Given the description of an element on the screen output the (x, y) to click on. 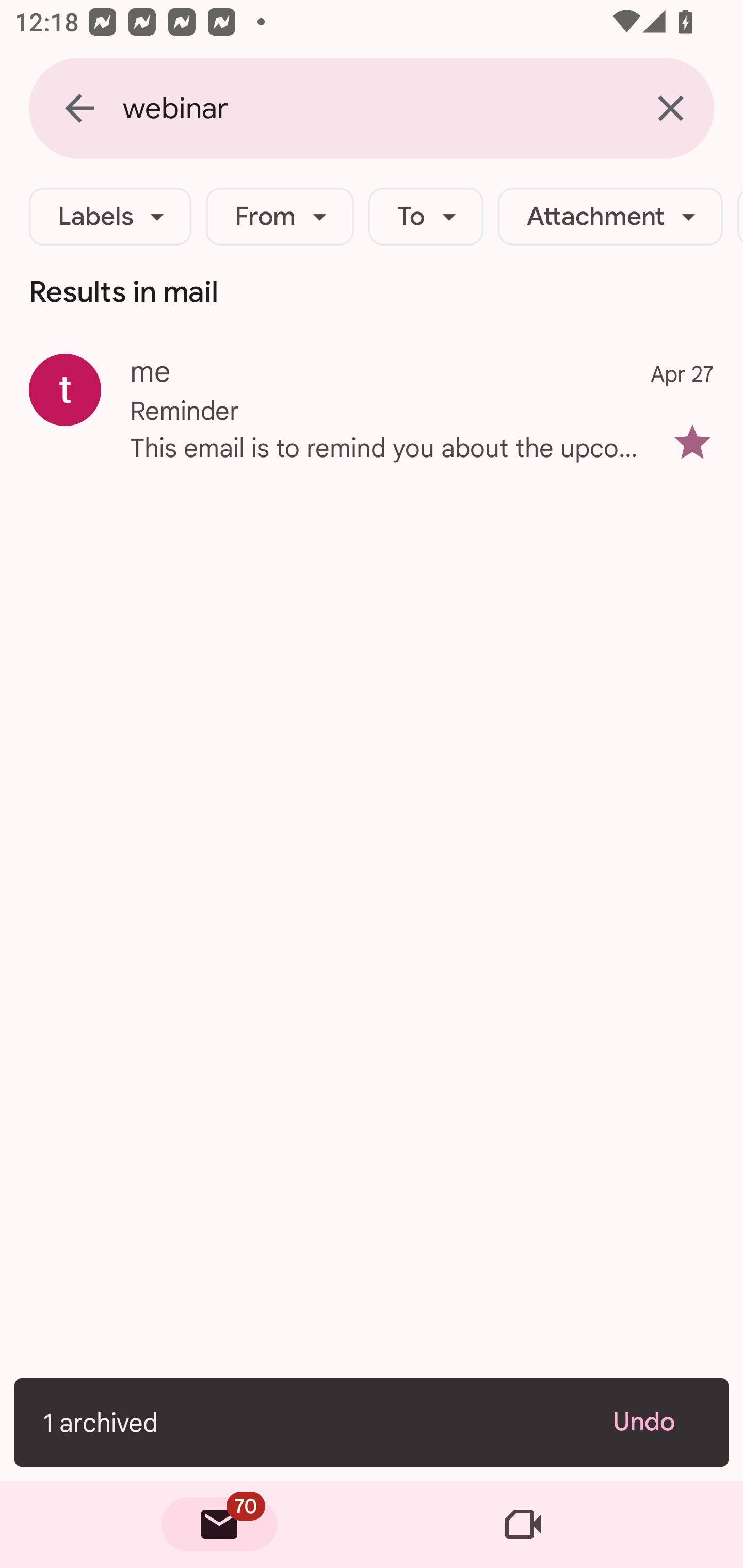
webinar Navigate up webinar Clear search text (371, 108)
Navigate up (79, 108)
Clear search text (670, 108)
Labels (109, 217)
From (279, 217)
To (425, 217)
Attachment (609, 217)
Undo (655, 1422)
Meet (523, 1524)
